Given the description of an element on the screen output the (x, y) to click on. 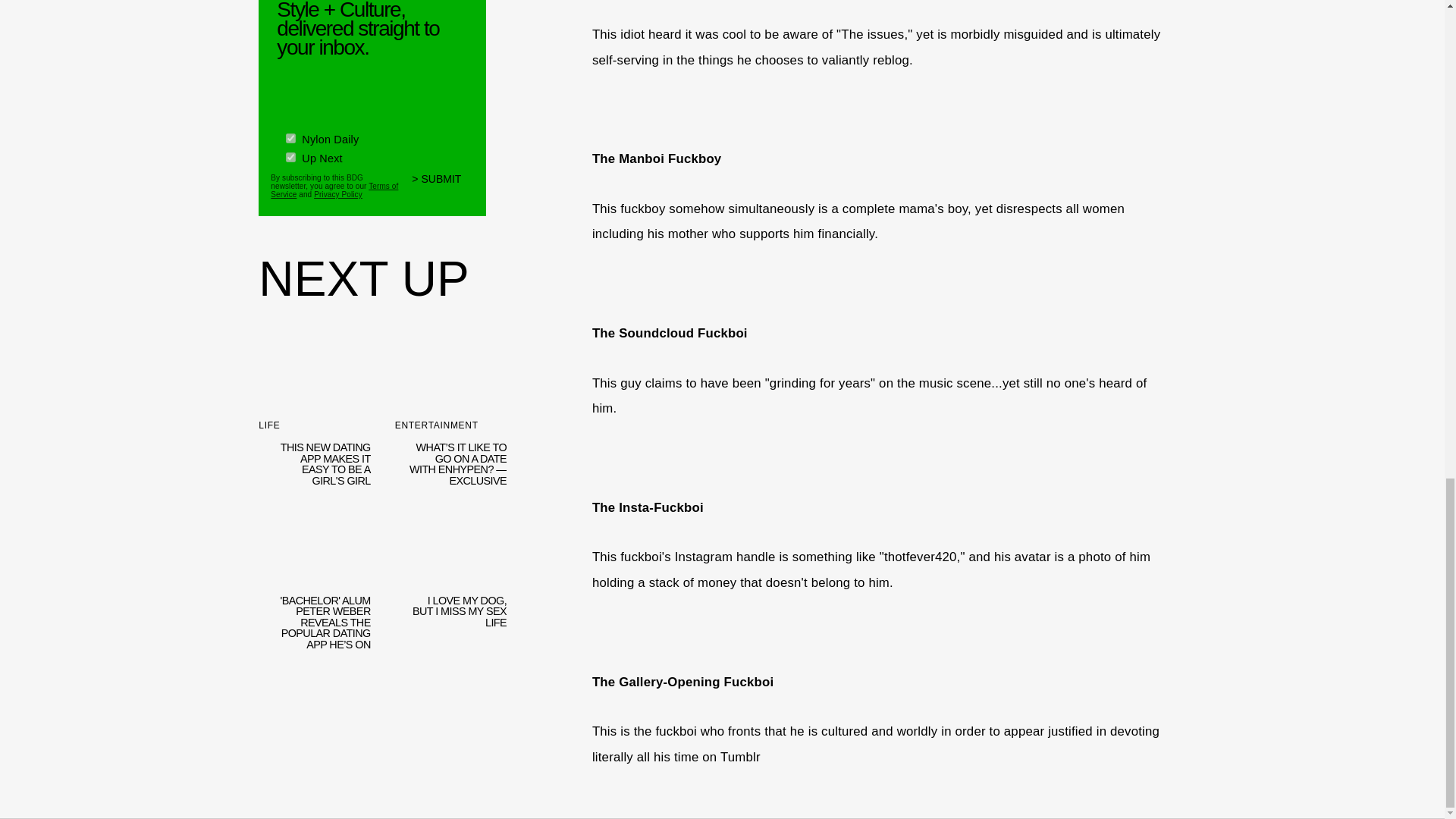
Privacy Policy (338, 191)
SUBMIT (443, 182)
Terms of Service (333, 185)
